Given the description of an element on the screen output the (x, y) to click on. 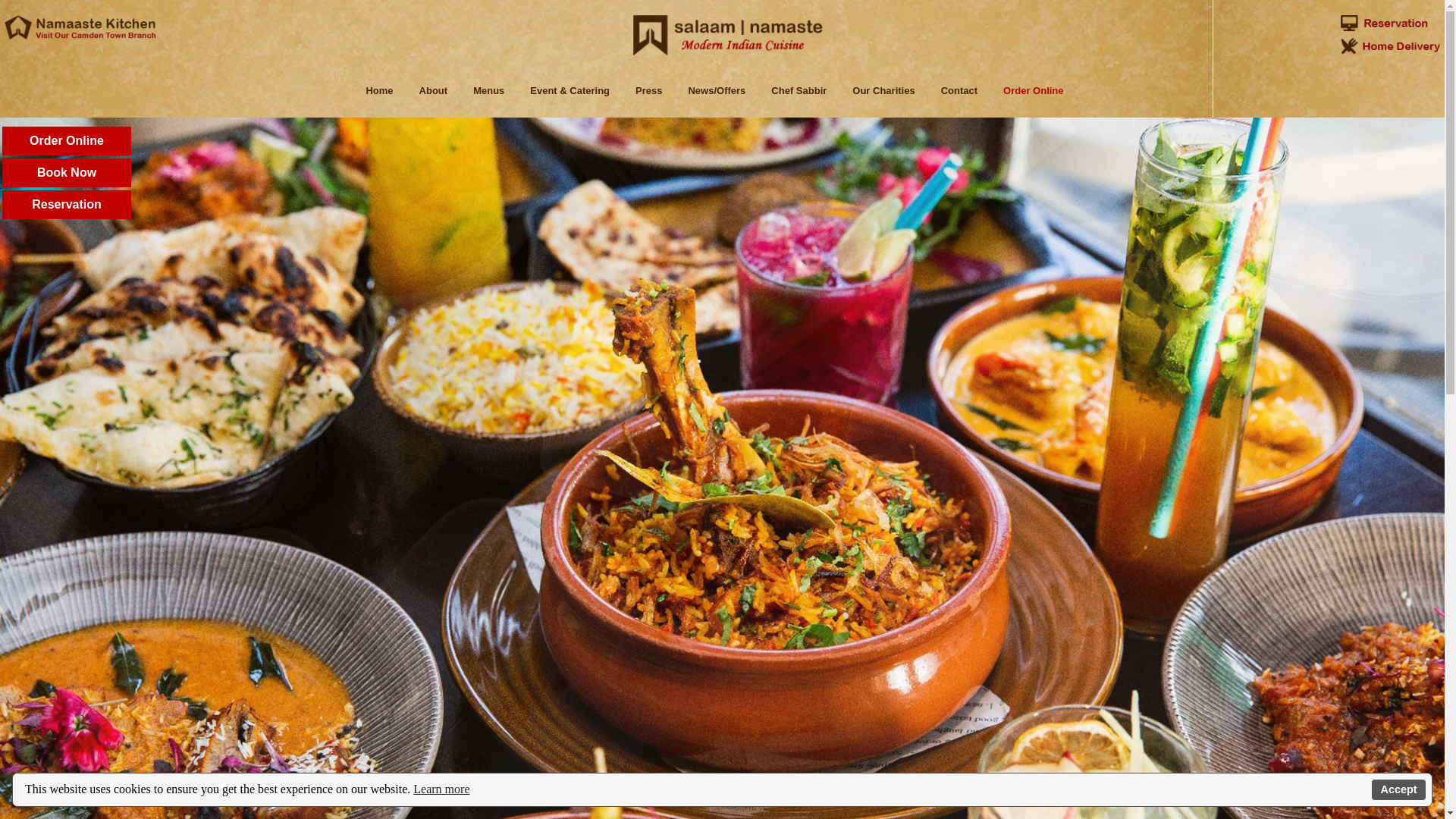
Our Charities (883, 90)
Press (648, 90)
Order Online (66, 140)
Reservation (66, 204)
Order Online (1032, 90)
Contact (959, 90)
Chef Sabbir (798, 90)
Learn more (440, 789)
Accept (1398, 789)
Home (378, 90)
Book Now (66, 172)
Menus (488, 90)
About (432, 90)
